Given the description of an element on the screen output the (x, y) to click on. 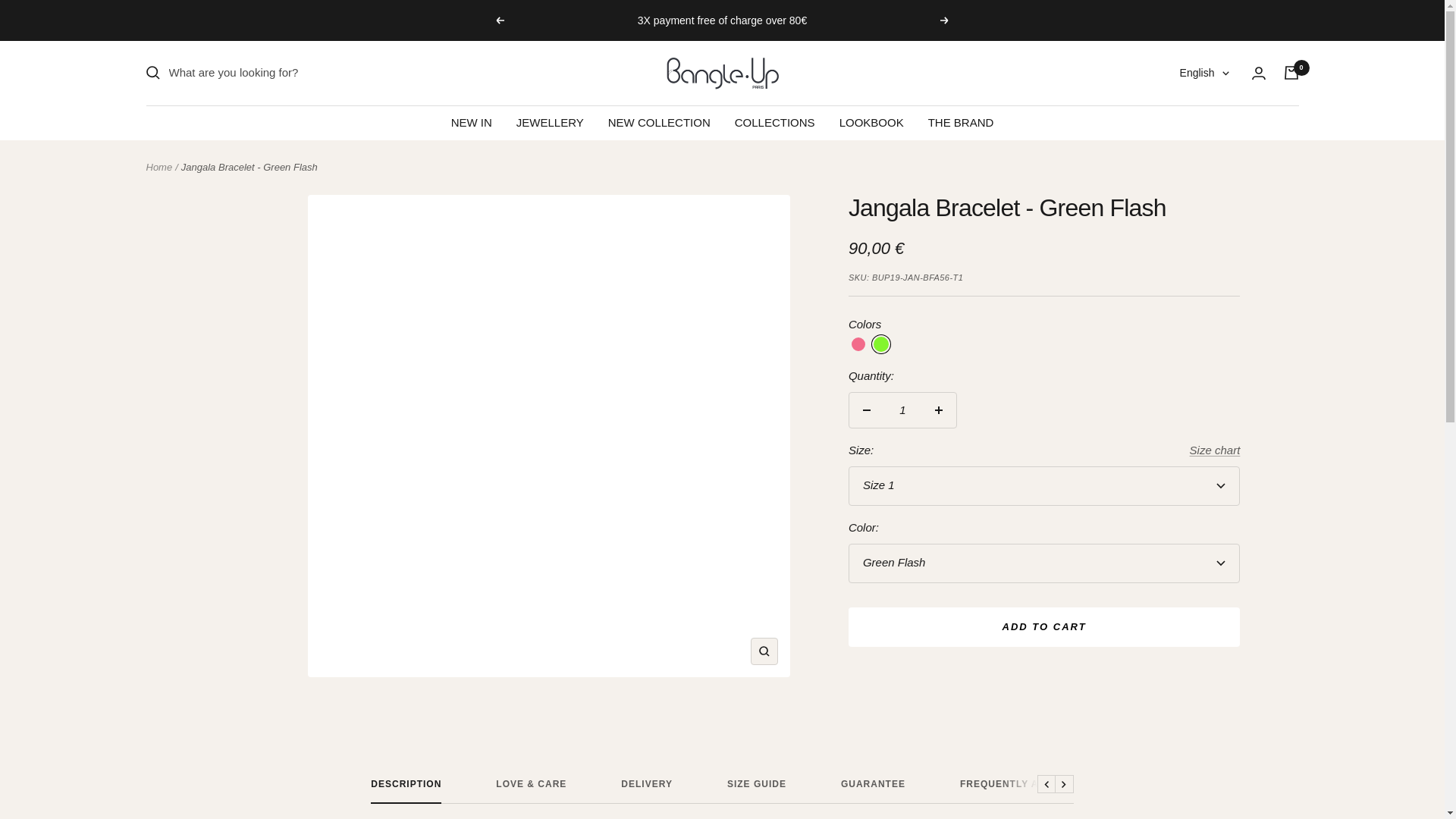
1 (902, 410)
0 (1290, 72)
Decrease quantity (865, 410)
Increase quantity (938, 410)
THE BRAND (961, 121)
fr (1194, 125)
en (1194, 149)
COLLECTIONS (775, 121)
JEWELLERY (549, 121)
NEW IN (471, 121)
